Given the description of an element on the screen output the (x, y) to click on. 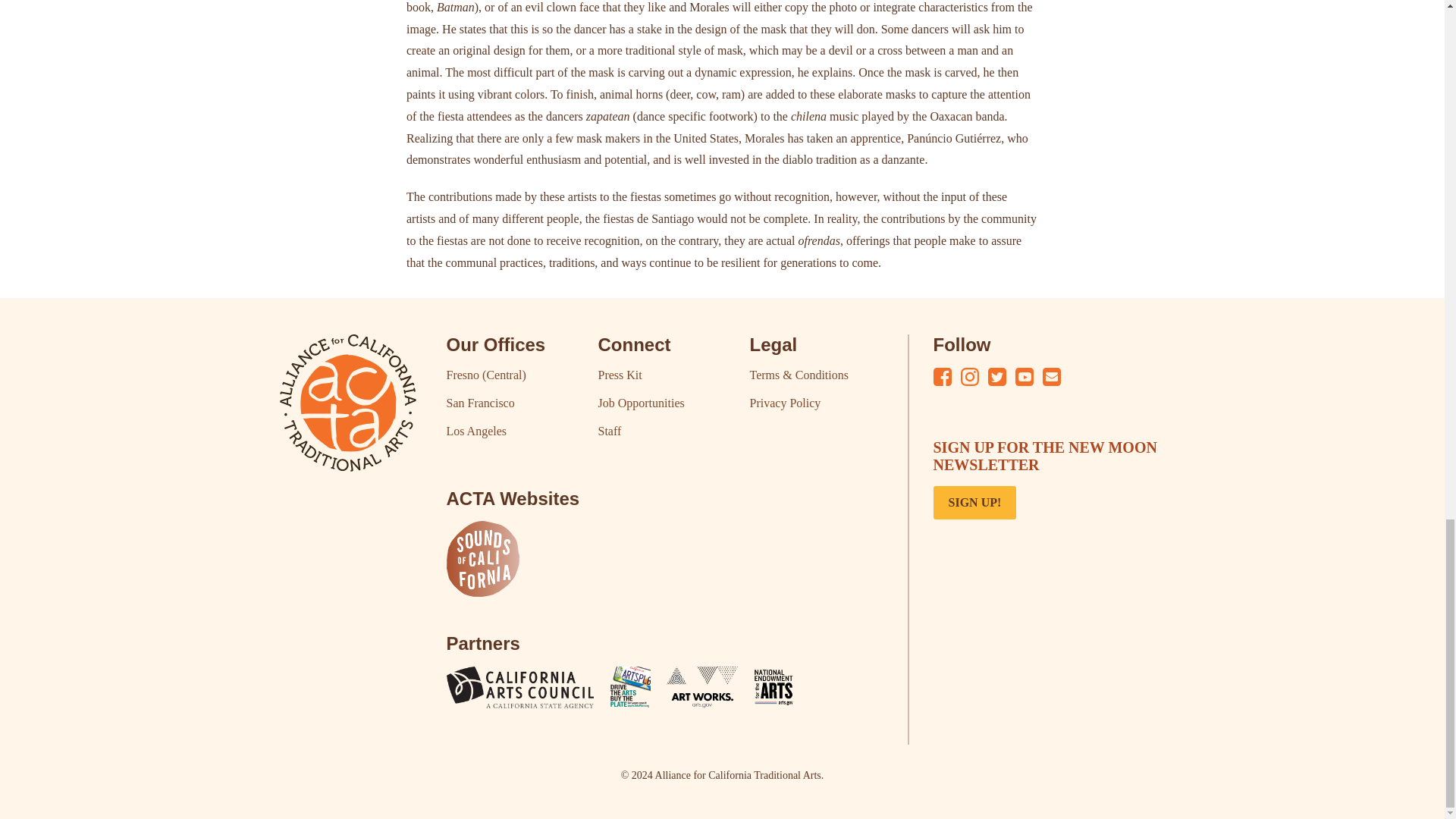
Home (346, 402)
